Given the description of an element on the screen output the (x, y) to click on. 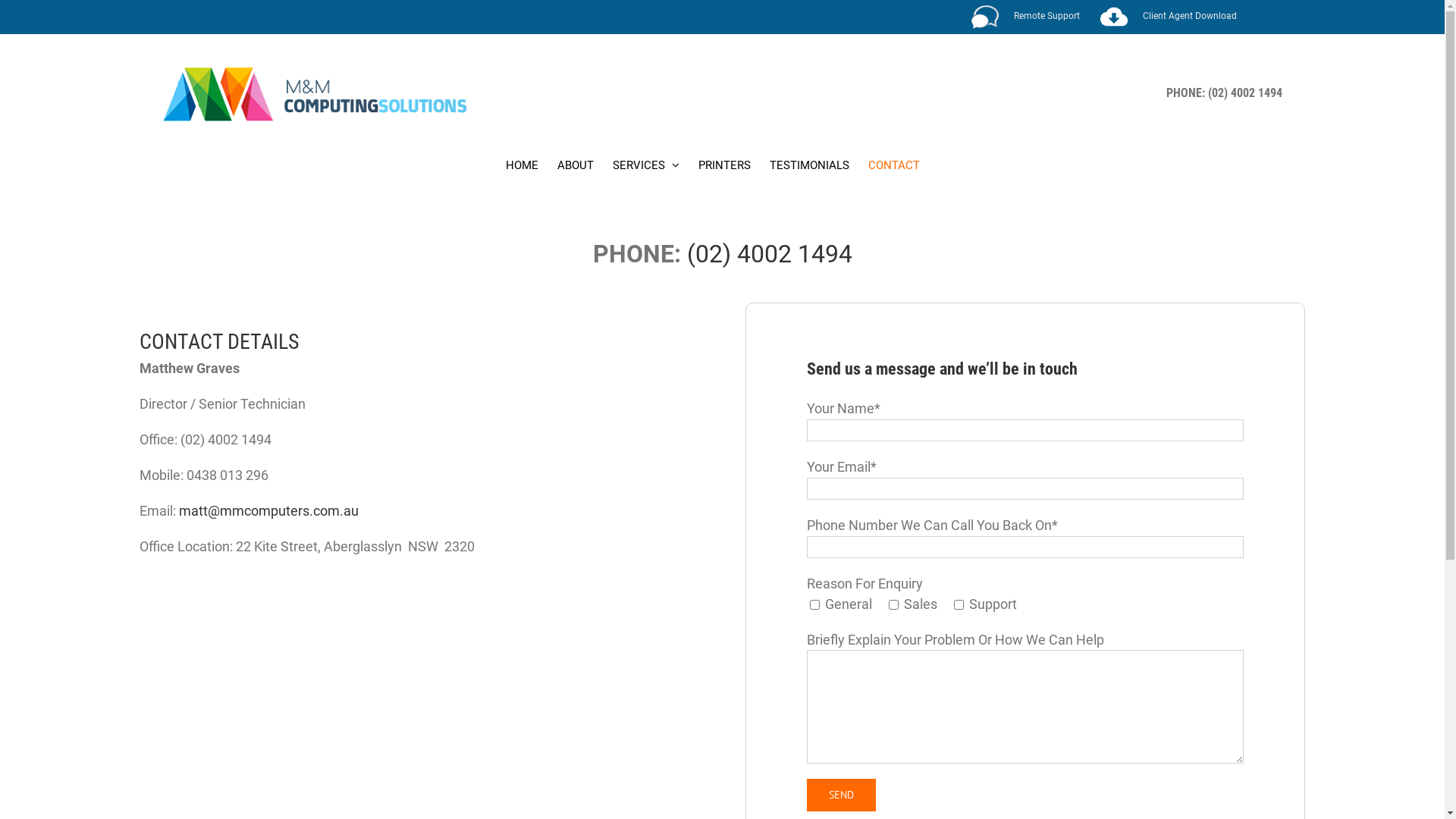
Client Agent Download Element type: text (1168, 16)
Send Element type: text (840, 794)
Remote Support Element type: text (1025, 16)
TESTIMONIALS Element type: text (809, 164)
ABOUT Element type: text (575, 164)
CONTACT Element type: text (893, 164)
SERVICES Element type: text (645, 164)
HOME Element type: text (521, 164)
PRINTERS Element type: text (724, 164)
(02) 4002 1494 Element type: text (769, 253)
matt@mmcomputers.com.au Element type: text (268, 510)
